Given the description of an element on the screen output the (x, y) to click on. 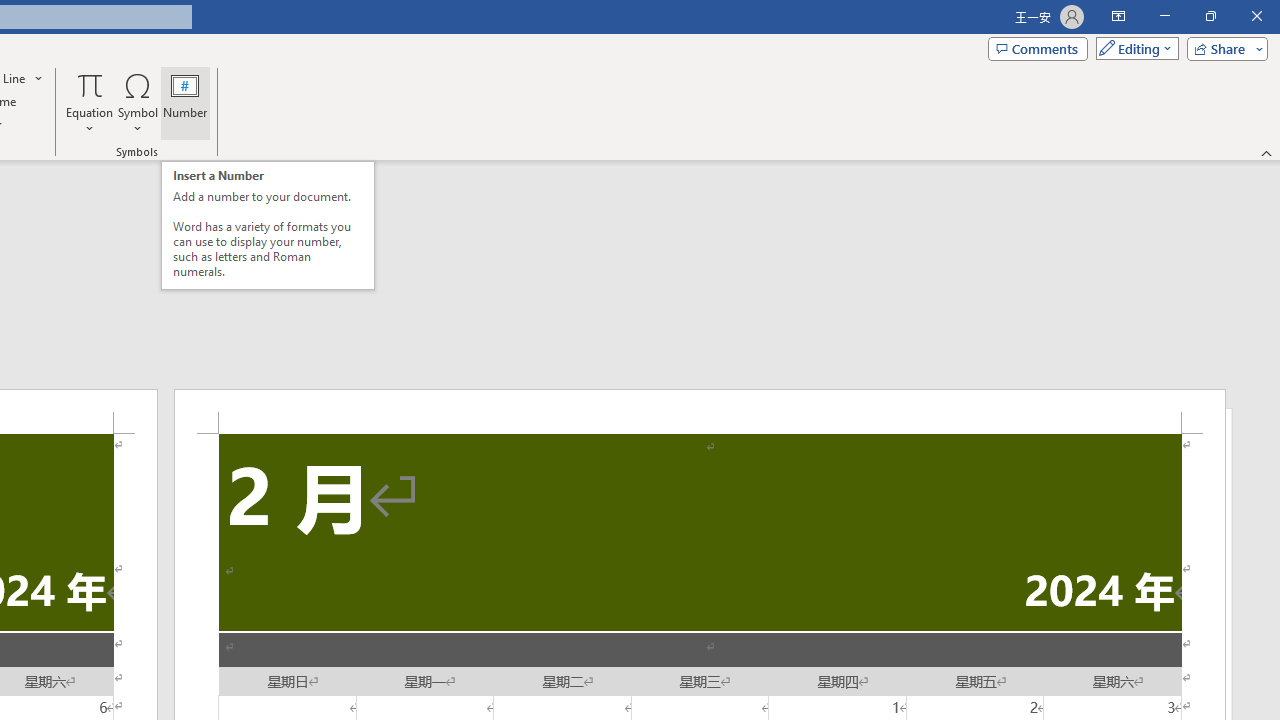
Header -Section 2- (700, 411)
